Given the description of an element on the screen output the (x, y) to click on. 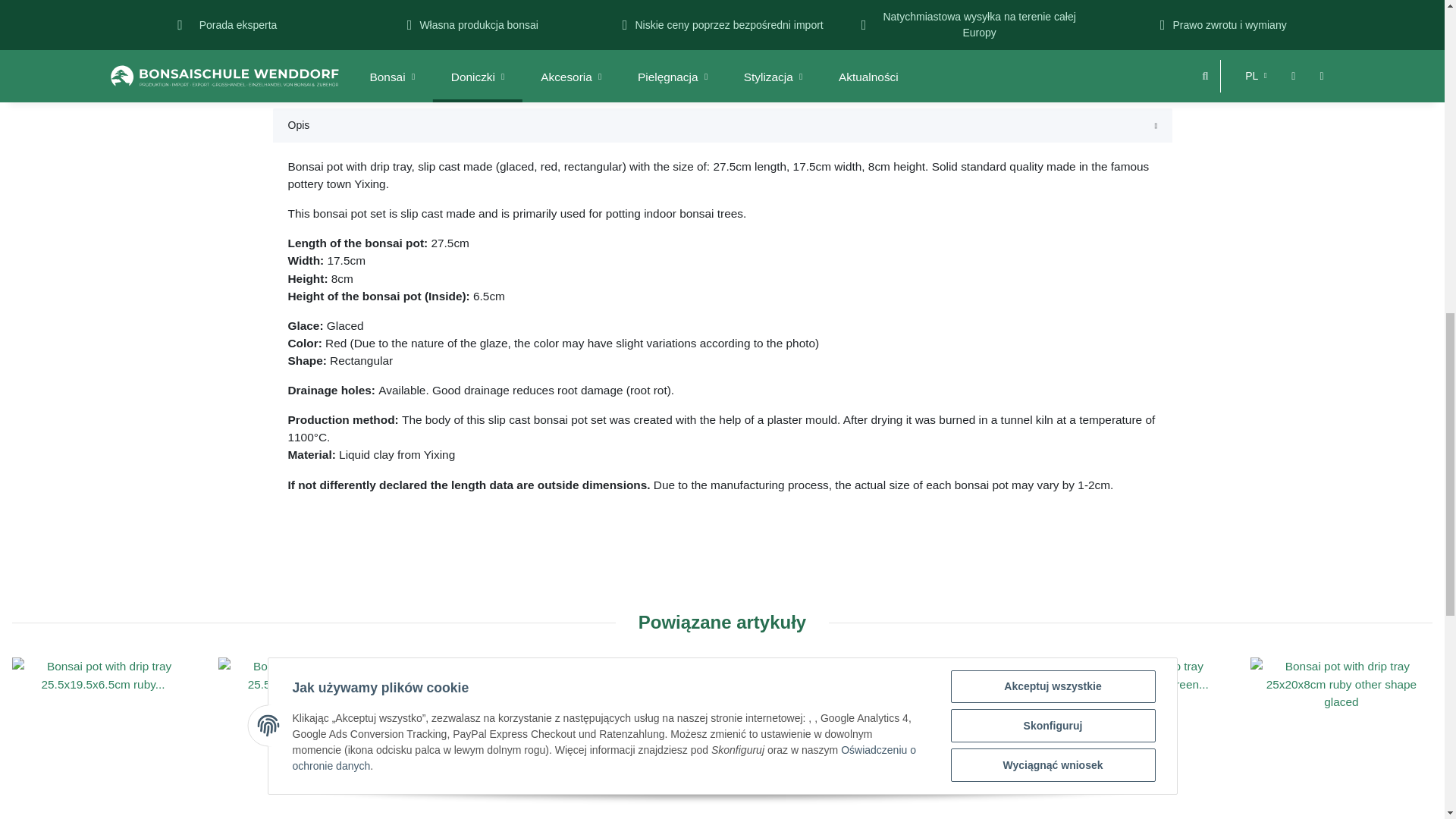
2001 (755, 2)
1 (980, 58)
